Given the description of an element on the screen output the (x, y) to click on. 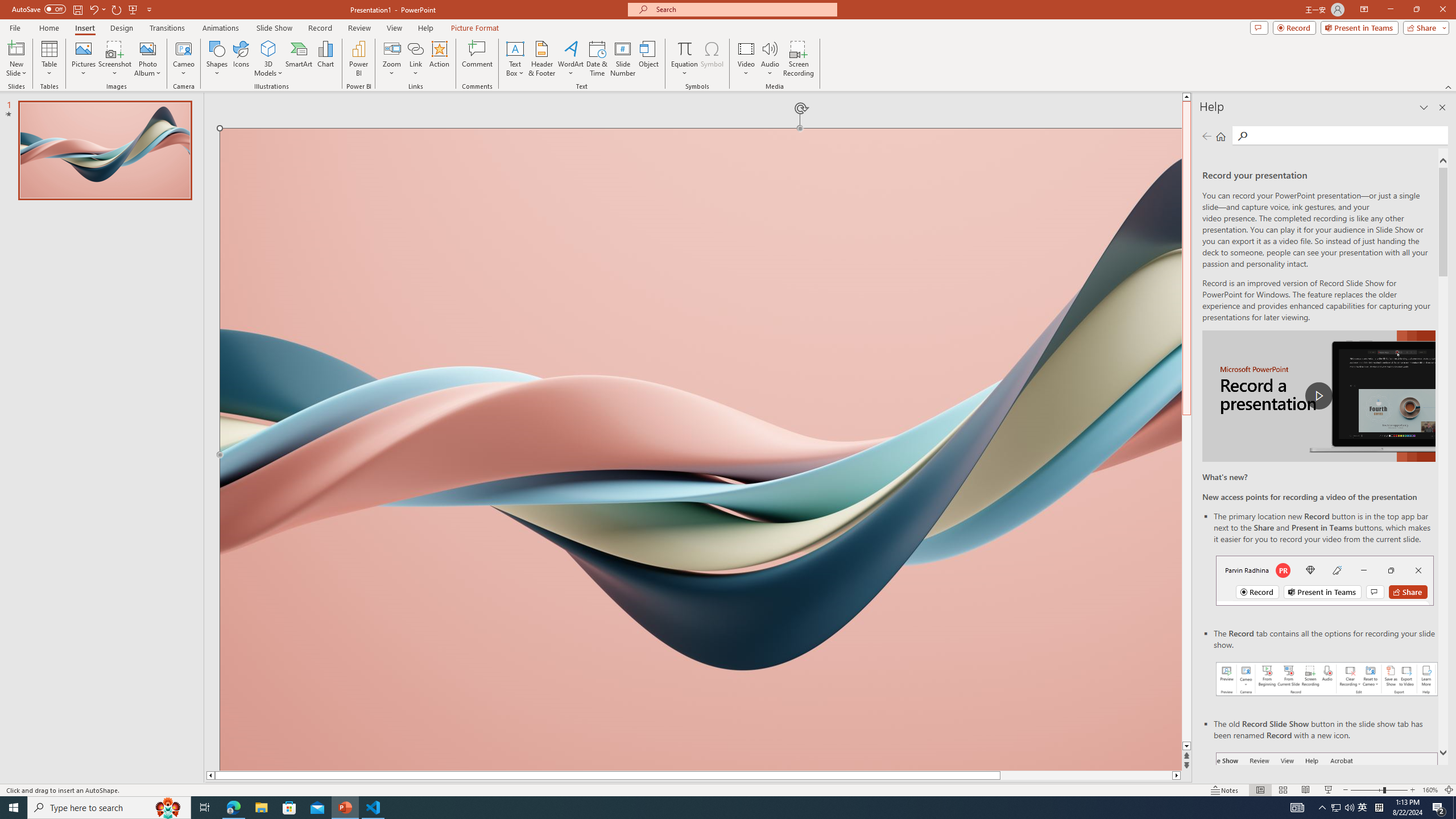
Audio (769, 58)
3D Models (268, 58)
Screenshot (114, 58)
Zoom 160% (1430, 790)
